Given the description of an element on the screen output the (x, y) to click on. 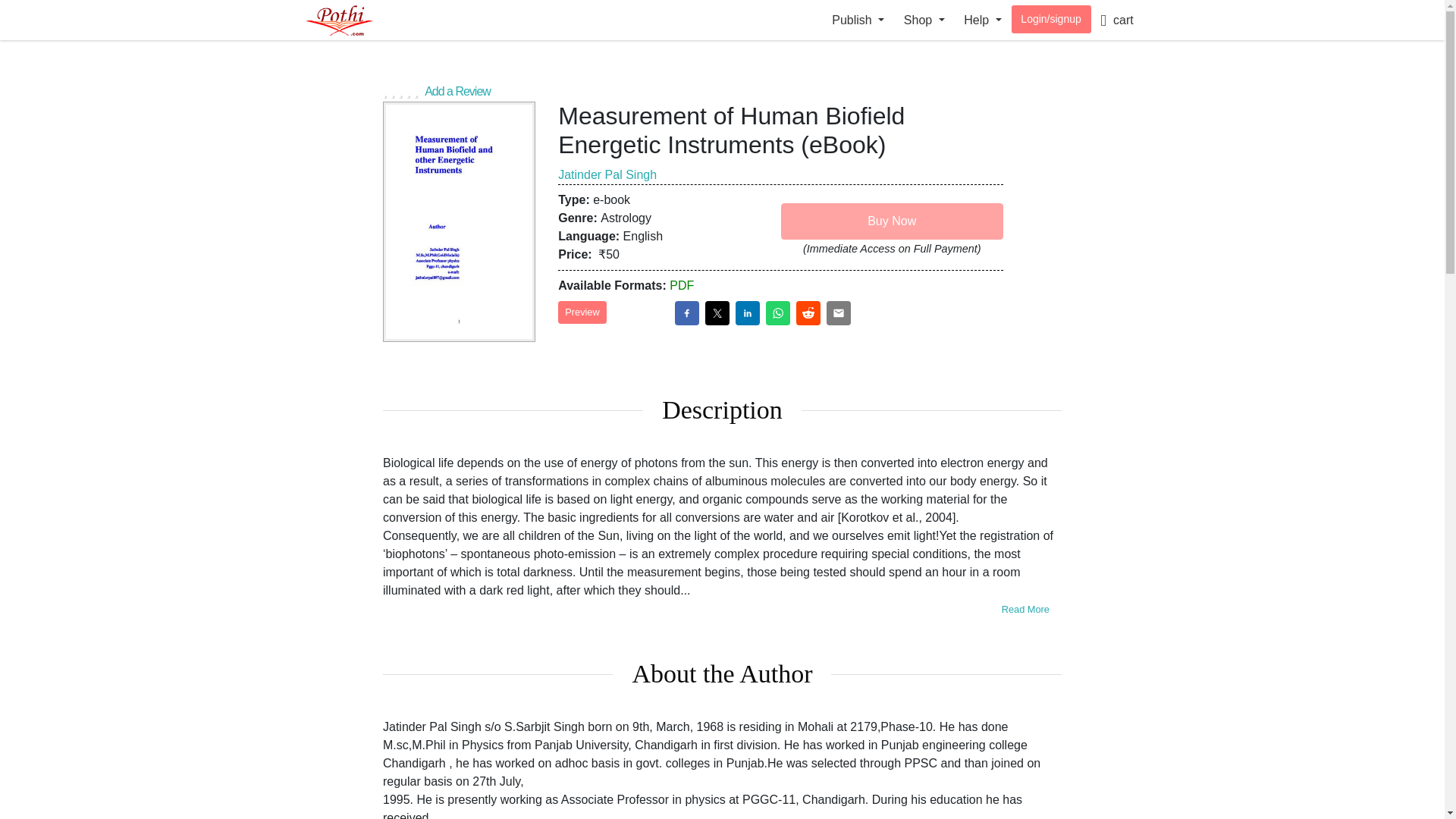
Shop (923, 20)
Preview (582, 312)
Help (983, 20)
Buy Now (891, 221)
Jatinder Pal Singh (606, 174)
pothi.com (354, 20)
Read More (1025, 609)
  cart (1116, 20)
Publish (857, 20)
Add a Review (721, 89)
